Given the description of an element on the screen output the (x, y) to click on. 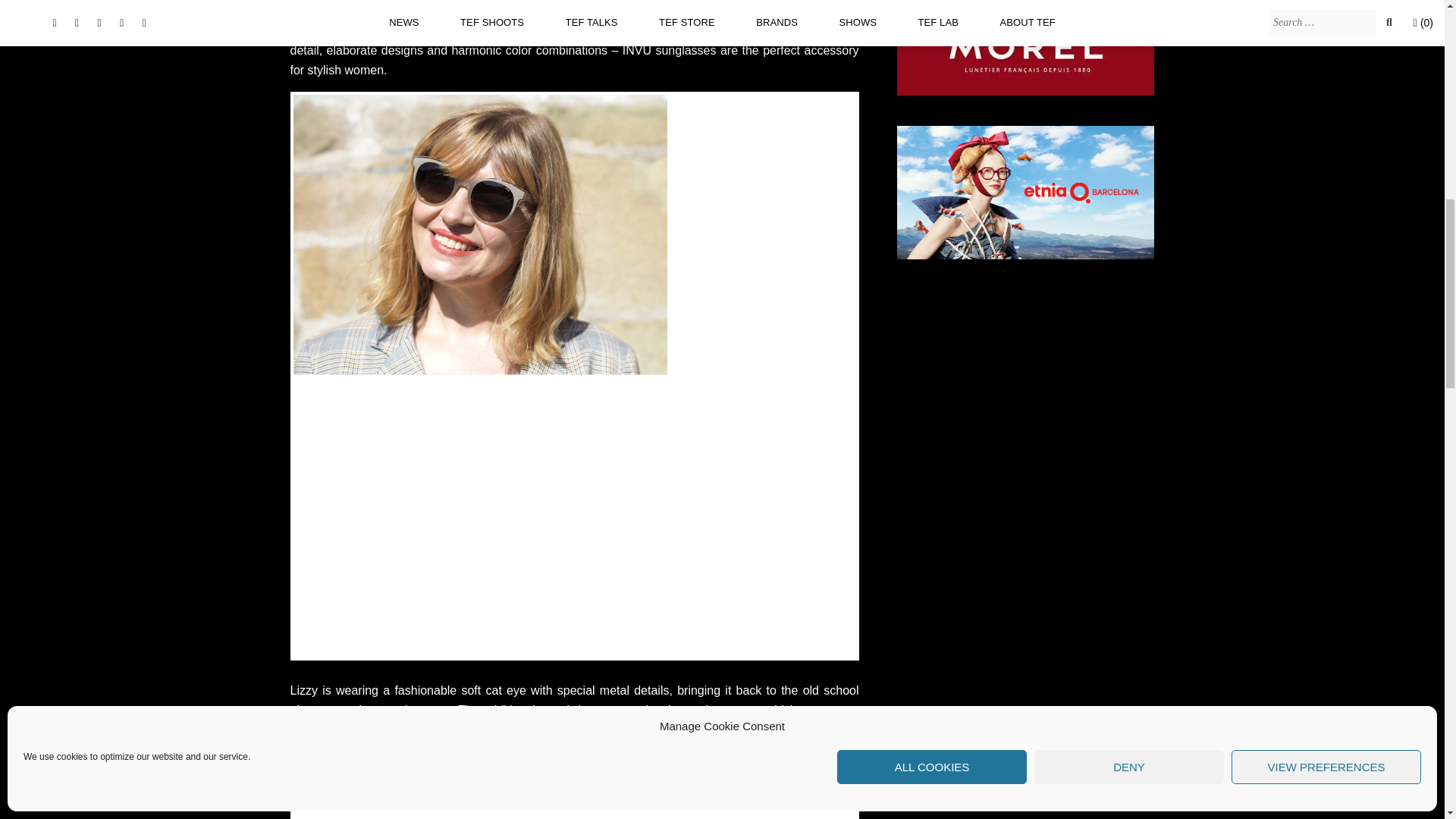
OLYMPUS DIGITAL CAMERA (480, 235)
OLYMPUS DIGITAL CAMERA (574, 791)
OLYMPUS DIGITAL CAMERA (670, 518)
OLYMPUS DIGITAL CAMERA (389, 518)
OLYMPUS DIGITAL CAMERA (706, 235)
